Given the description of an element on the screen output the (x, y) to click on. 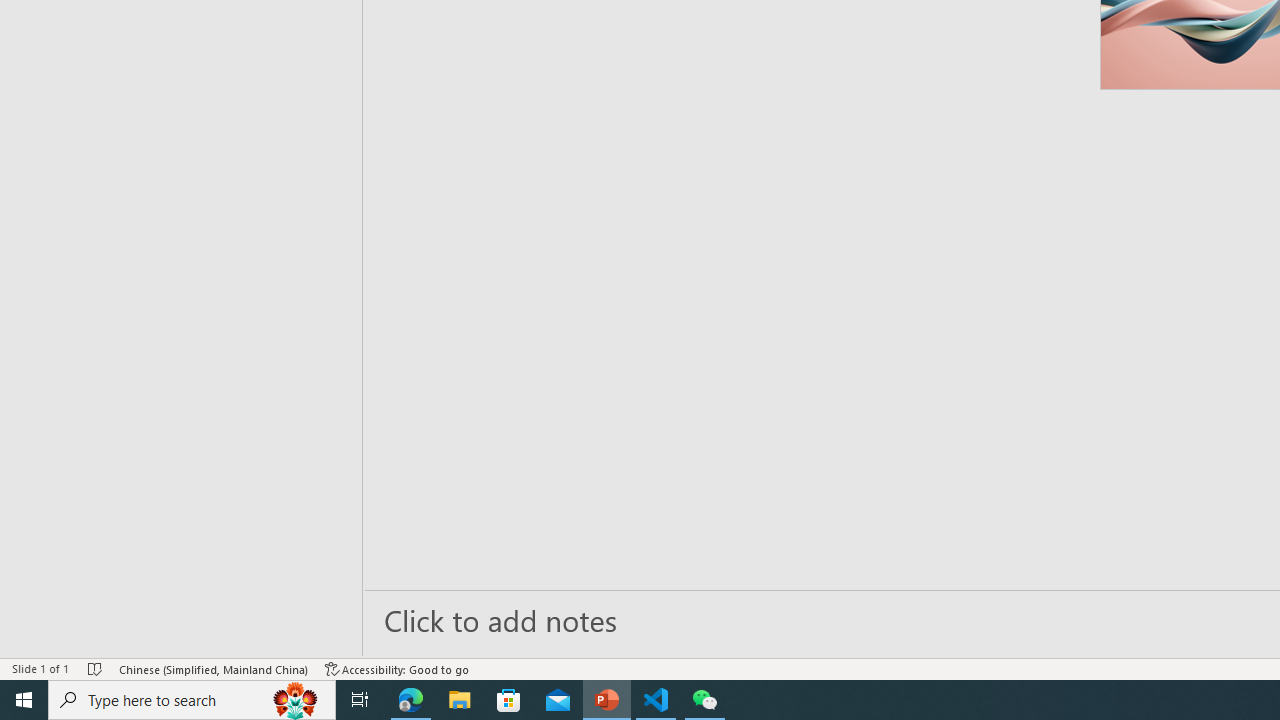
Accessibility Checker Accessibility: Good to go (397, 668)
